Given the description of an element on the screen output the (x, y) to click on. 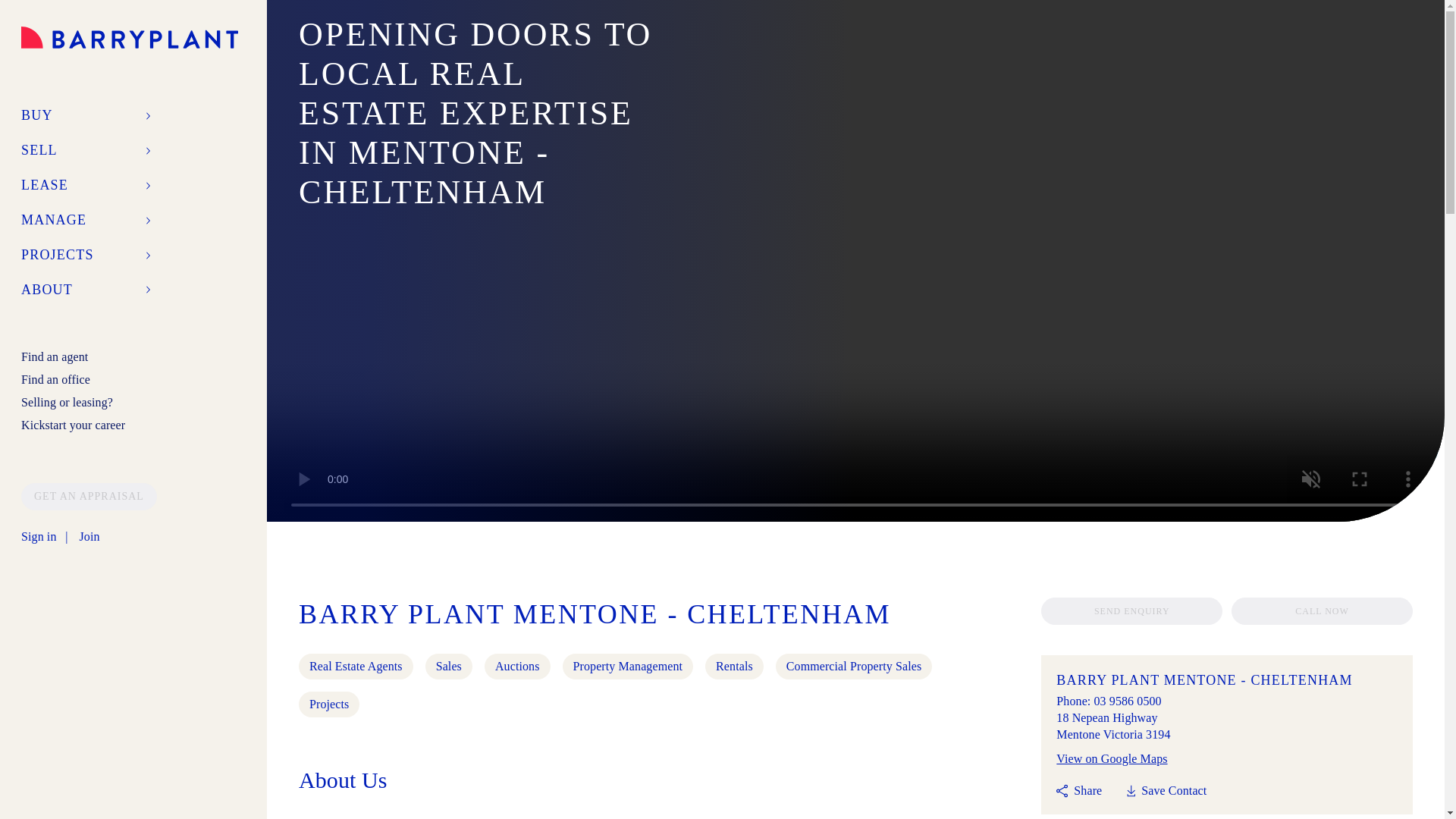
03 9586 0500 (1126, 700)
Selling or leasing? (67, 401)
Join (88, 536)
GET AN APPRAISAL (89, 496)
CALL NOW (1321, 610)
GET AN APPRAISAL (89, 495)
Sign in (38, 536)
View on Google Maps (1112, 759)
Find an office (55, 379)
Find an agent (54, 356)
